Given the description of an element on the screen output the (x, y) to click on. 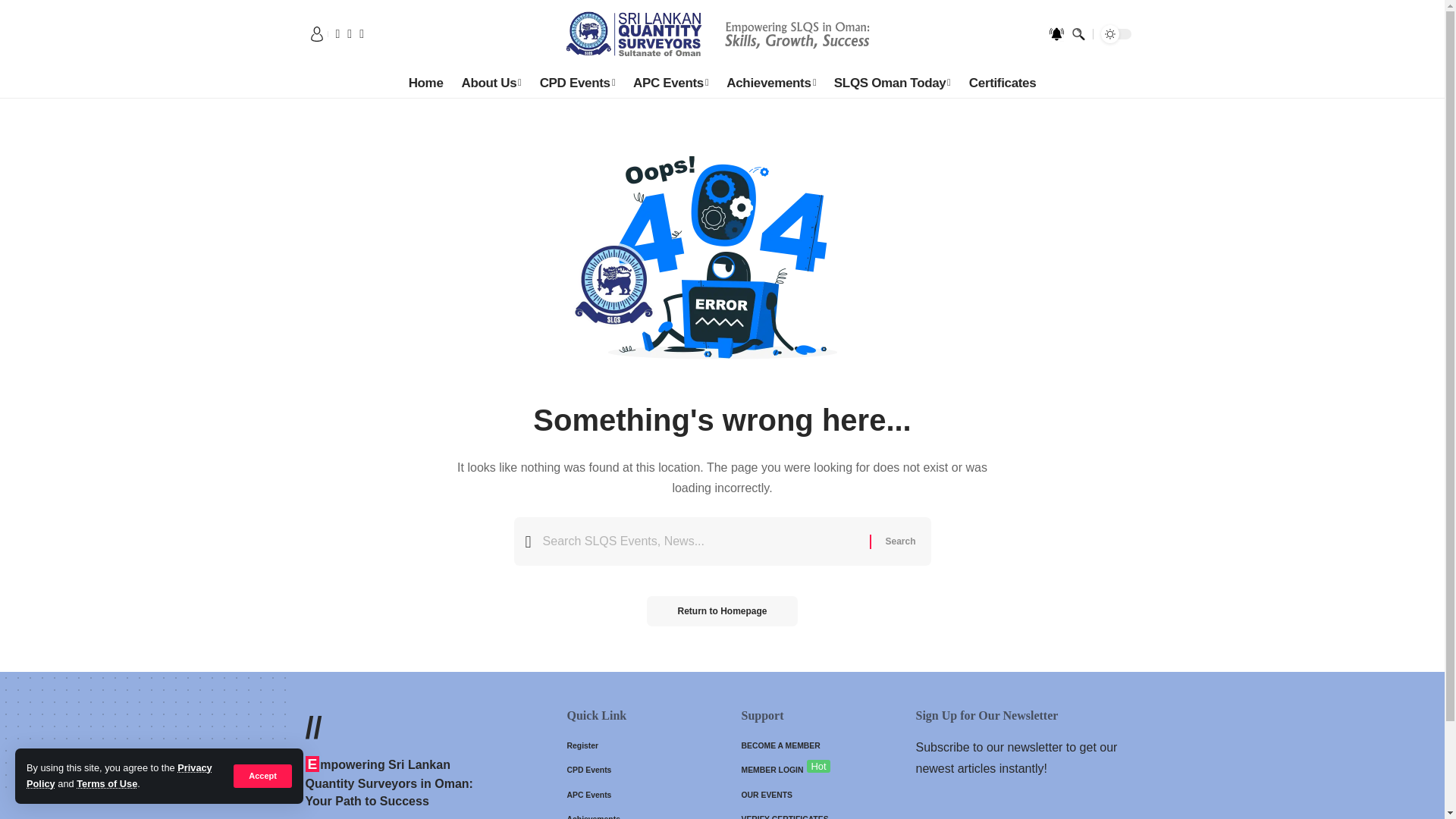
APC Events (670, 82)
About Us (491, 82)
Privacy Policy (119, 775)
Terms of Use (106, 783)
Achievements (771, 82)
SLQS Oman (722, 33)
CPD Events (577, 82)
Search (899, 540)
Accept (262, 775)
Home (425, 82)
